Given the description of an element on the screen output the (x, y) to click on. 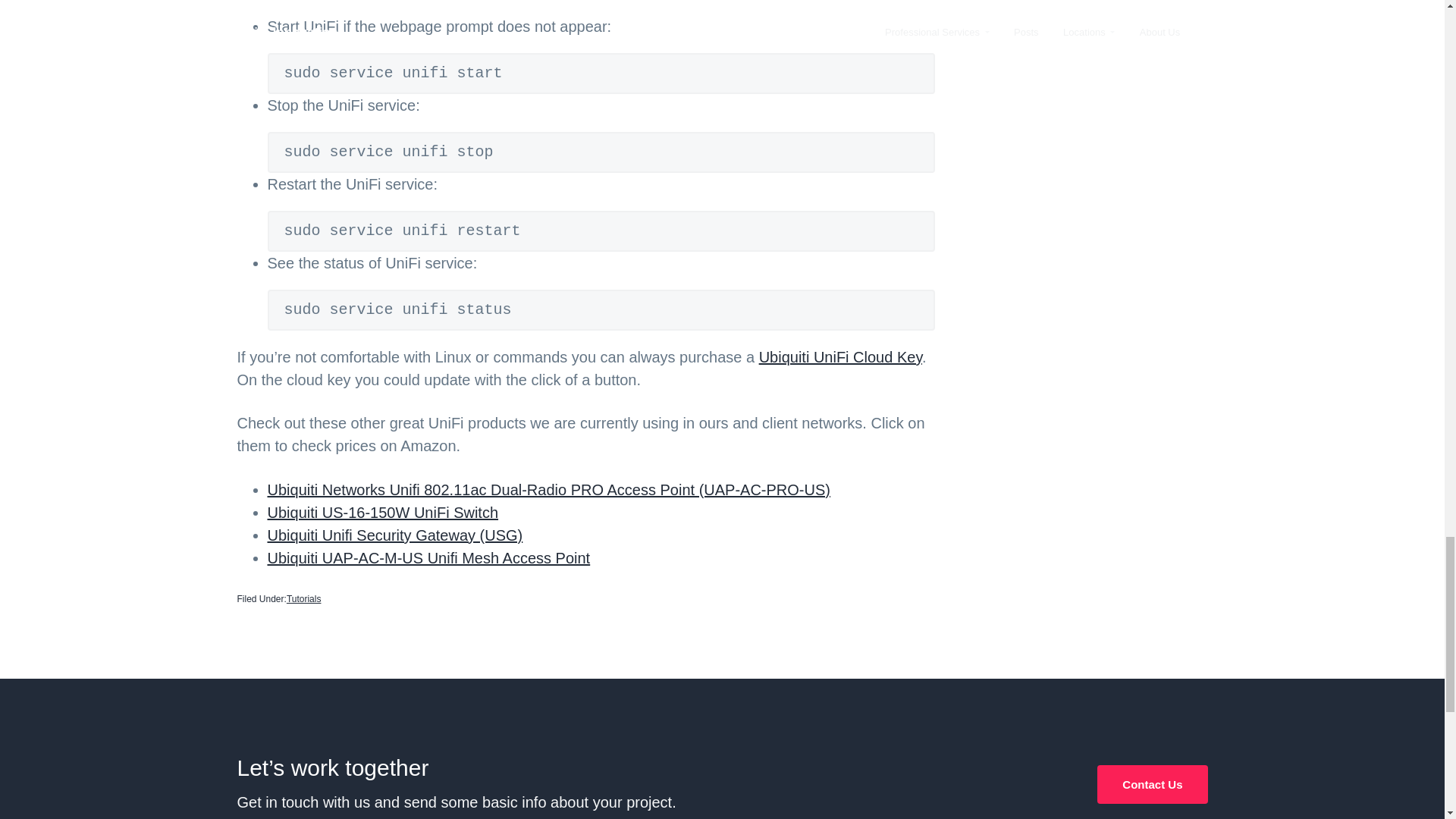
Ubiquiti UniFi Cloud Key (839, 356)
Ubiquiti US-16-150W UniFi Switch (381, 512)
Ubiquiti UAP-AC-M-US Unifi Mesh Access Point (427, 557)
Tutorials (303, 599)
